Given the description of an element on the screen output the (x, y) to click on. 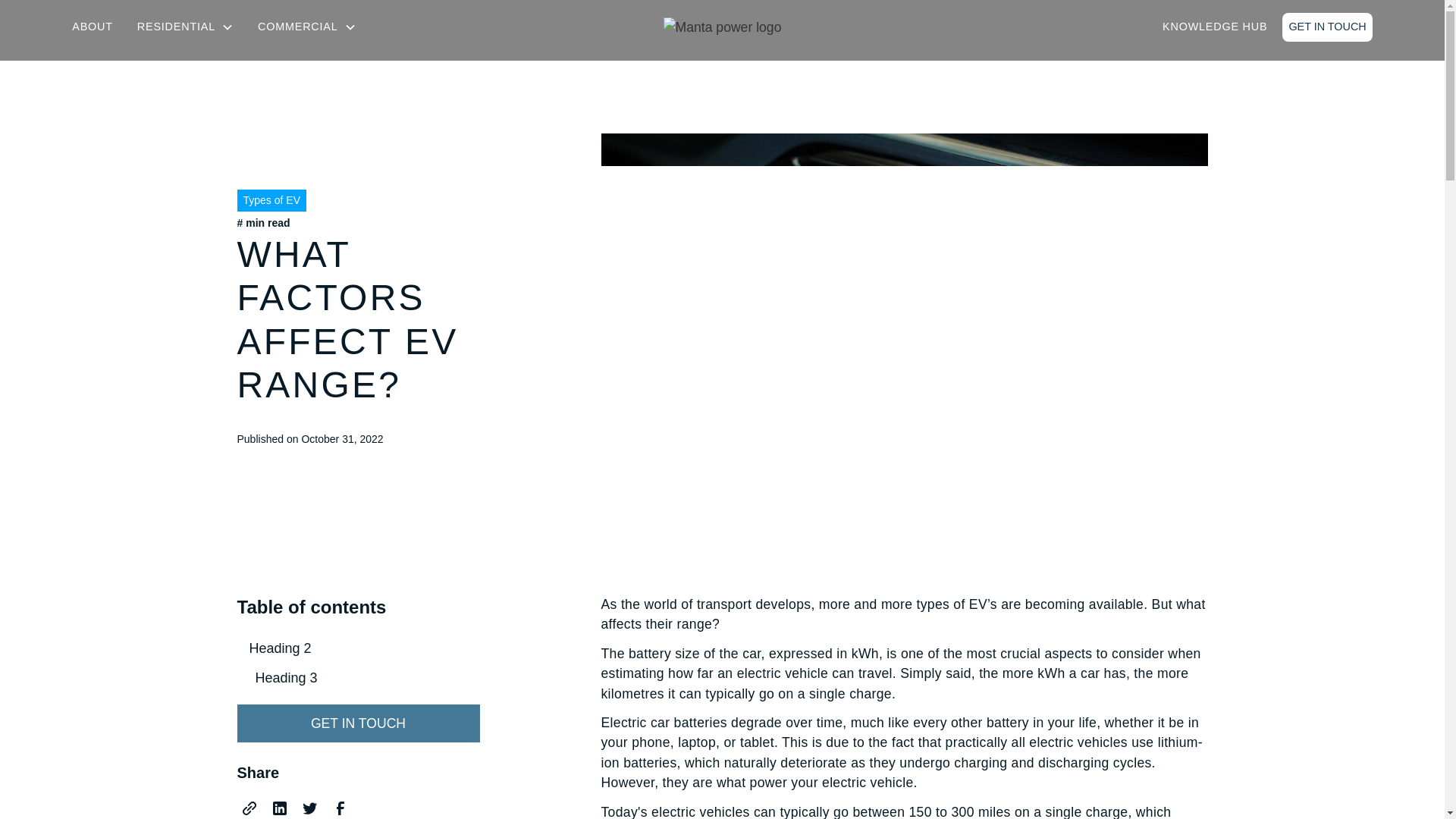
ABOUT (92, 27)
GET IN TOUCH (357, 723)
All Posts (270, 143)
Types of EV (270, 200)
Heading 2 (357, 648)
KNOWLEDGE HUB (1214, 27)
Heading 3 (363, 678)
GET IN TOUCH (1326, 27)
